Given the description of an element on the screen output the (x, y) to click on. 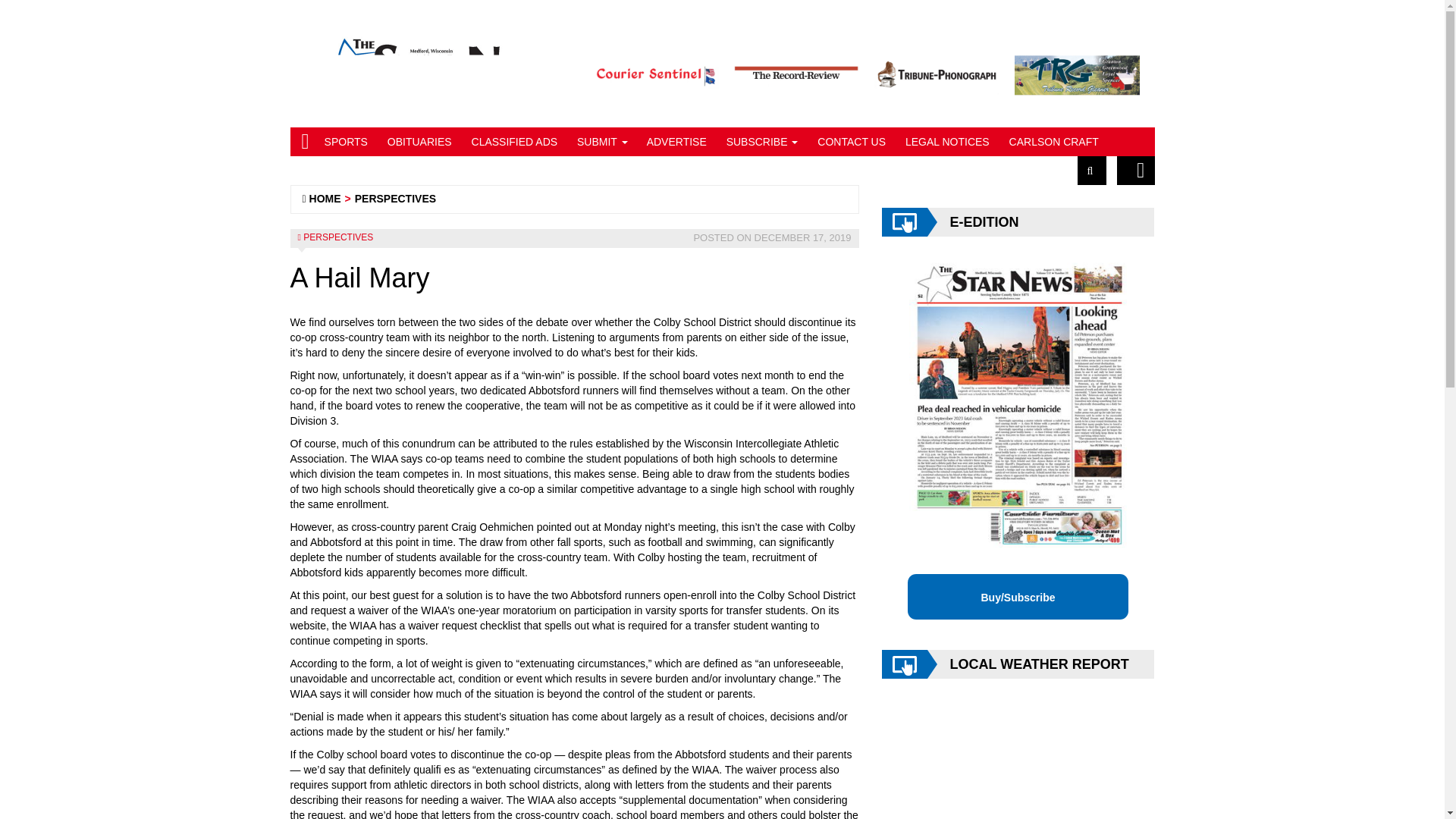
 CLASSIFIED ADS (513, 141)
 LEGAL NOTICES (945, 141)
 SUBMIT (600, 141)
 CONTACT US (849, 141)
 ADVERTISE (675, 141)
 SUBSCRIBE (760, 141)
Classified Ads (513, 141)
Submit (600, 141)
Obituaries (417, 141)
 OBITUARIES (417, 141)
Sports (344, 141)
 CARLSON CRAFT (1051, 141)
Subscribe (760, 141)
 SPORTS (344, 141)
Advertise (675, 141)
